Given the description of an element on the screen output the (x, y) to click on. 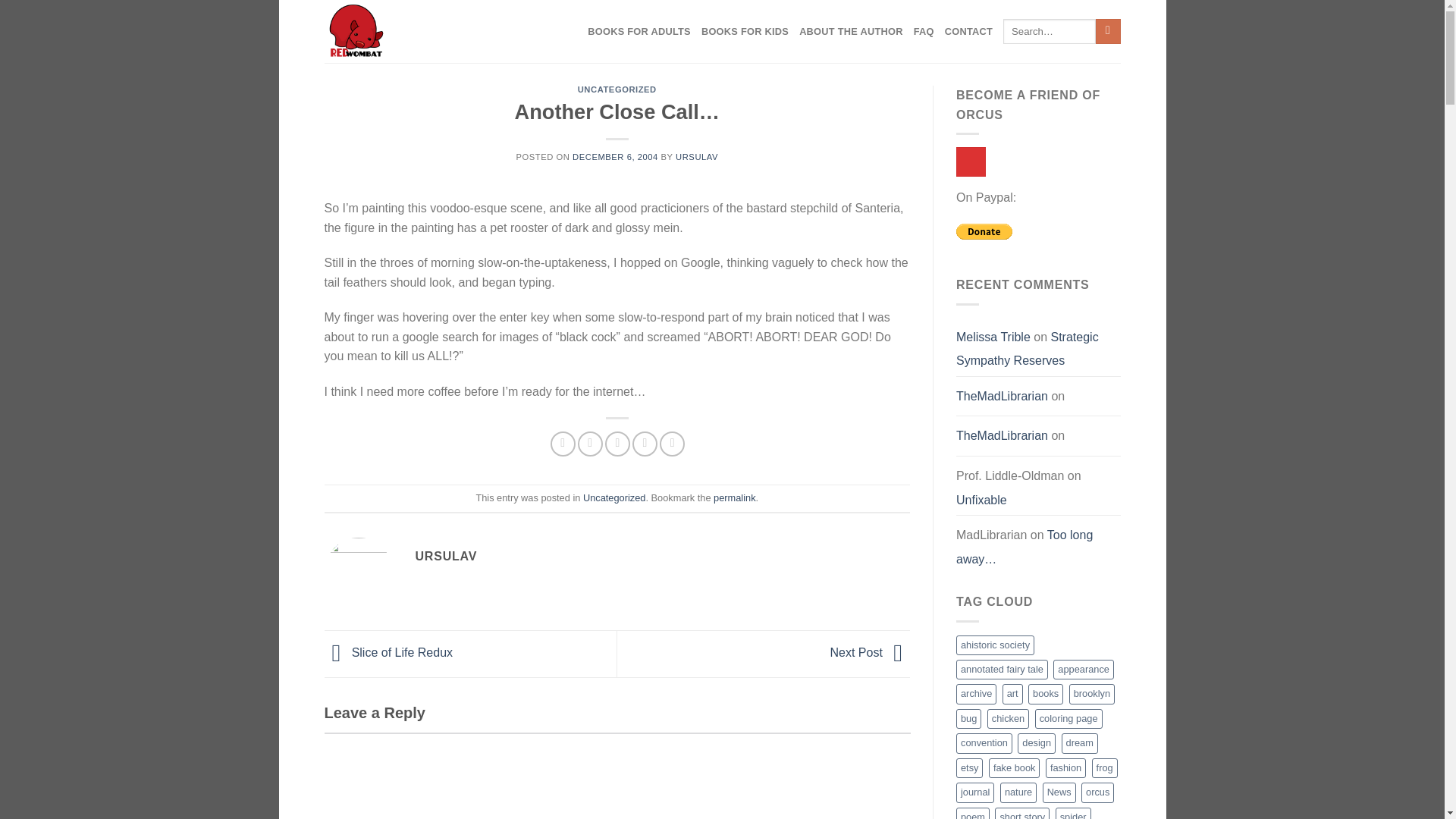
URSULAV (696, 156)
Share on LinkedIn (671, 443)
BOOKS FOR ADULTS (639, 31)
Share on Facebook (562, 443)
BOOKS FOR KIDS (745, 31)
UNCATEGORIZED (617, 89)
permalink (734, 497)
Share on Twitter (590, 443)
Slice of Life Redux (388, 652)
Email to a Friend (617, 443)
Pin on Pinterest (644, 443)
DECEMBER 6, 2004 (615, 156)
Uncategorized (614, 497)
